Given the description of an element on the screen output the (x, y) to click on. 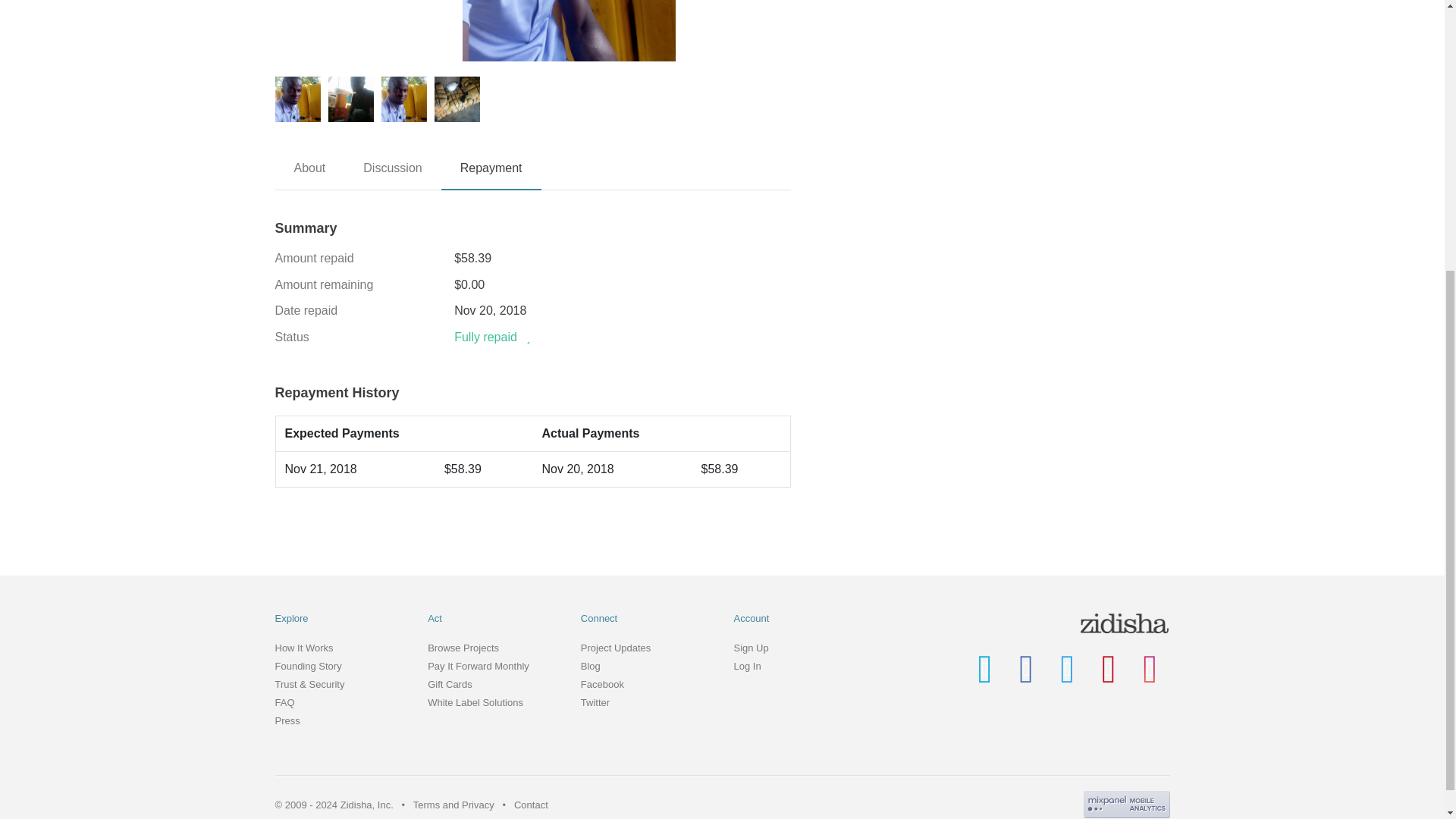
Discussion (392, 173)
Repayment (491, 174)
About (309, 173)
